Given the description of an element on the screen output the (x, y) to click on. 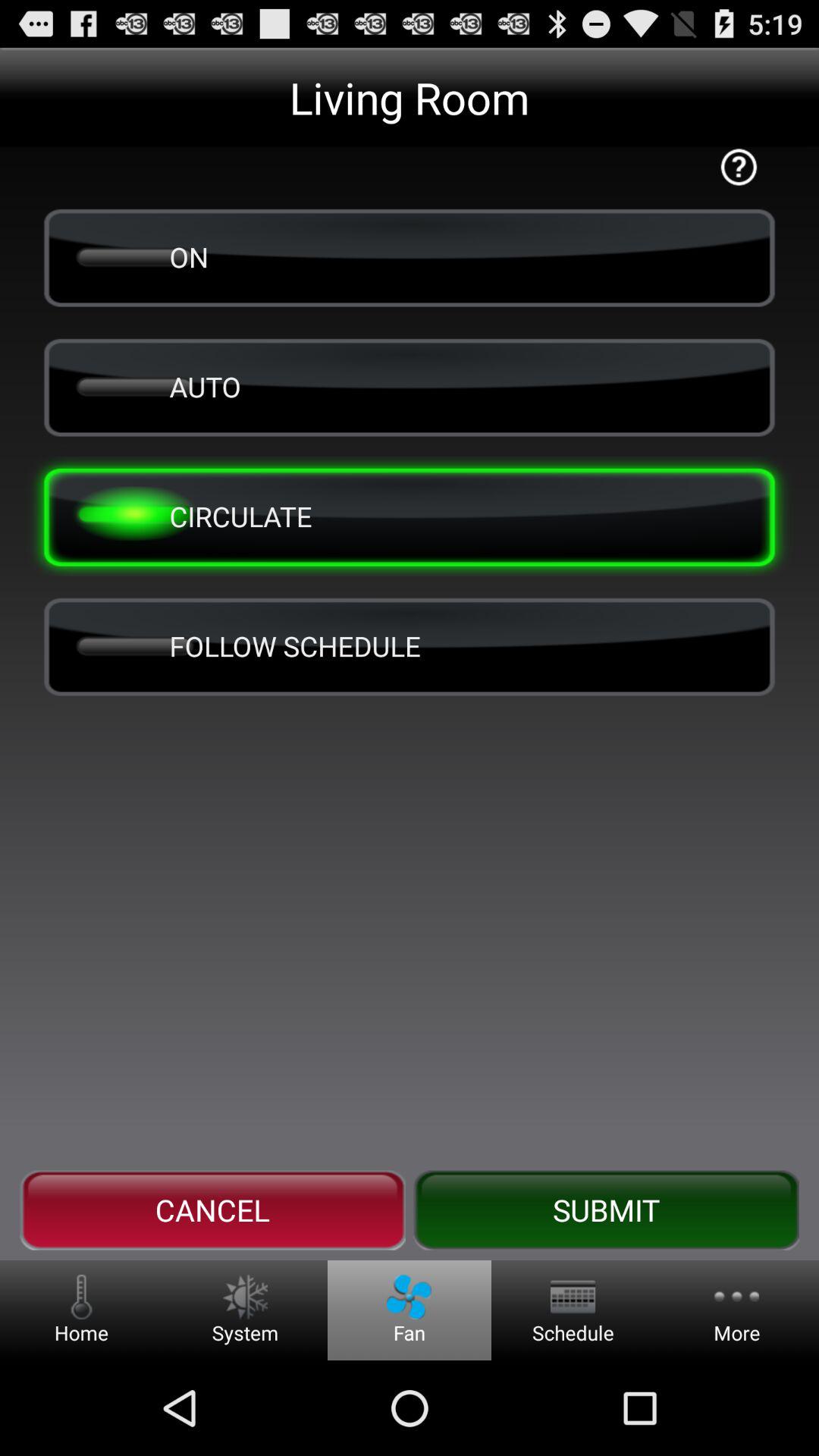
scroll to circulate button (409, 516)
